Given the description of an element on the screen output the (x, y) to click on. 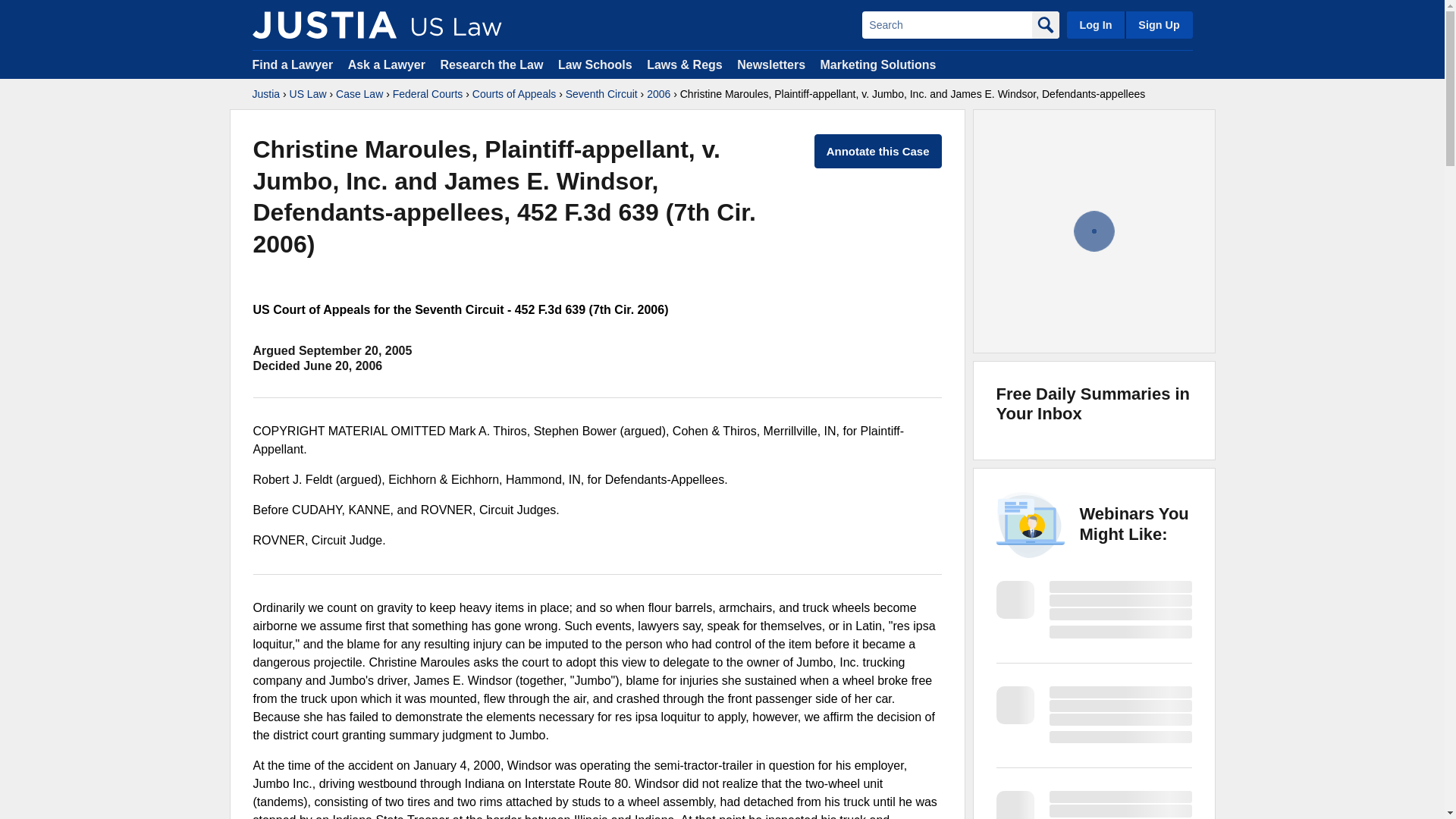
Seventh Circuit (601, 93)
Marketing Solutions (877, 64)
Ask a Lawyer (388, 64)
Federal Courts (428, 93)
Search (945, 24)
Sign Up (1158, 24)
Justia (265, 93)
Newsletters (770, 64)
Log In (1094, 24)
US Law (307, 93)
Annotate this Case (877, 151)
Law Schools (594, 64)
Justia (323, 24)
Research the Law (491, 64)
2006 (657, 93)
